Given the description of an element on the screen output the (x, y) to click on. 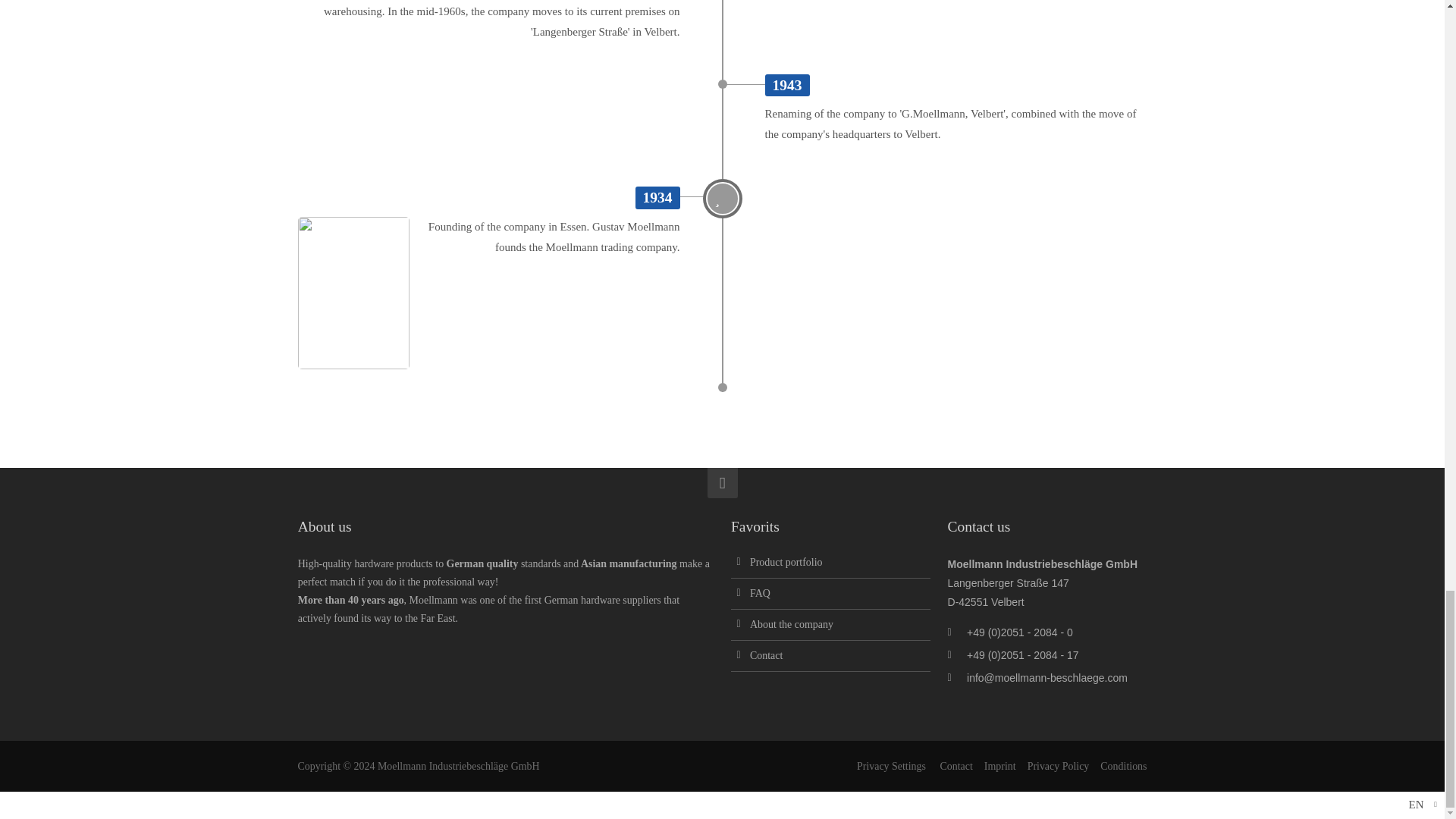
Conditions (1123, 766)
Imprint (1000, 766)
About the company (790, 624)
Privacy Policy (1058, 766)
Contact (955, 766)
Product portfolio (785, 562)
FAQ (759, 593)
Privacy Settings (891, 766)
Contact (766, 655)
